Given the description of an element on the screen output the (x, y) to click on. 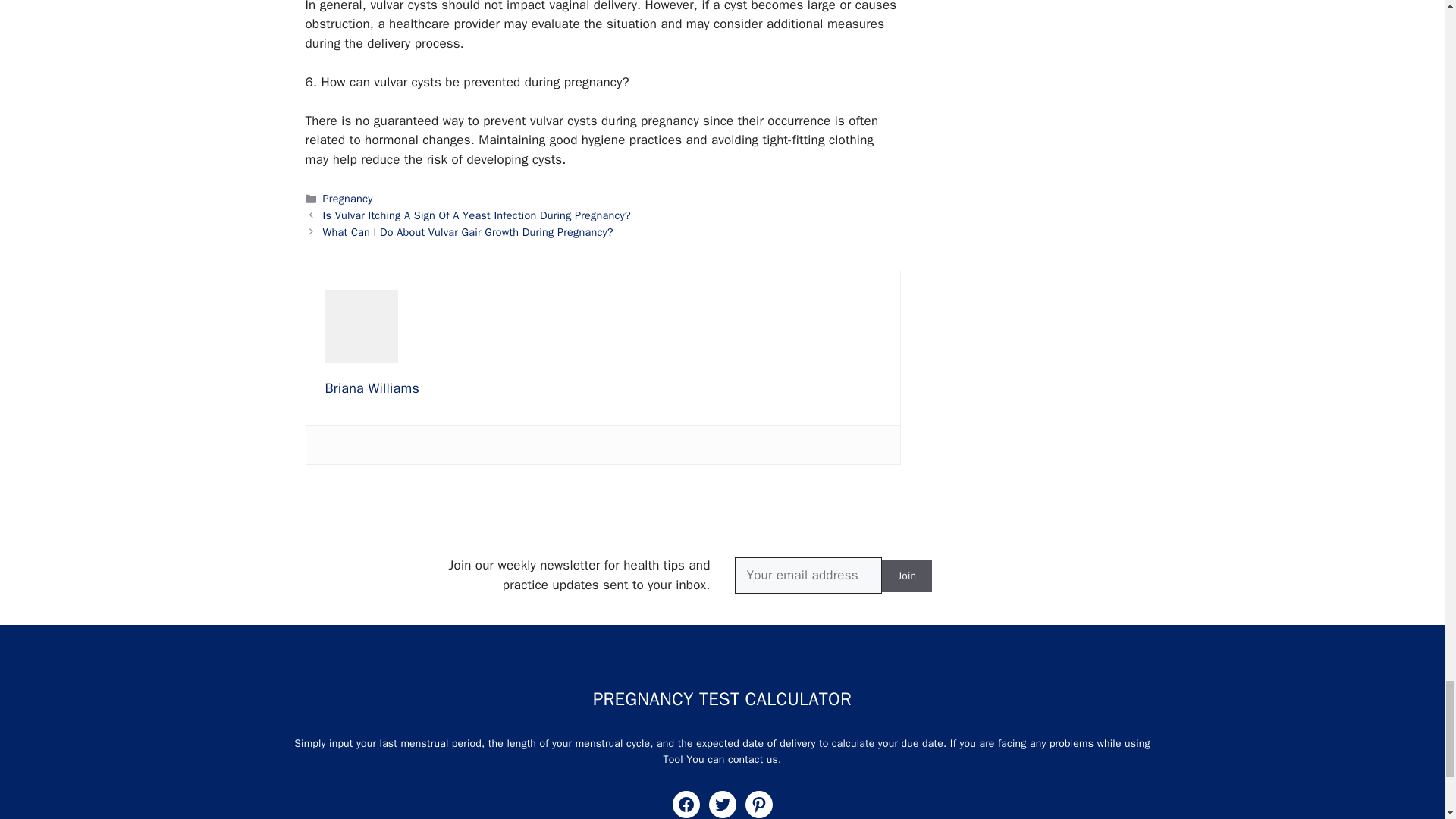
Facebook (684, 804)
Pinterest (757, 804)
What Can I Do About Vulvar Gair Growth During Pregnancy? (467, 232)
Join (905, 575)
Briana Williams (371, 388)
Join (905, 575)
Pregnancy (347, 198)
Twitter (721, 804)
